Given the description of an element on the screen output the (x, y) to click on. 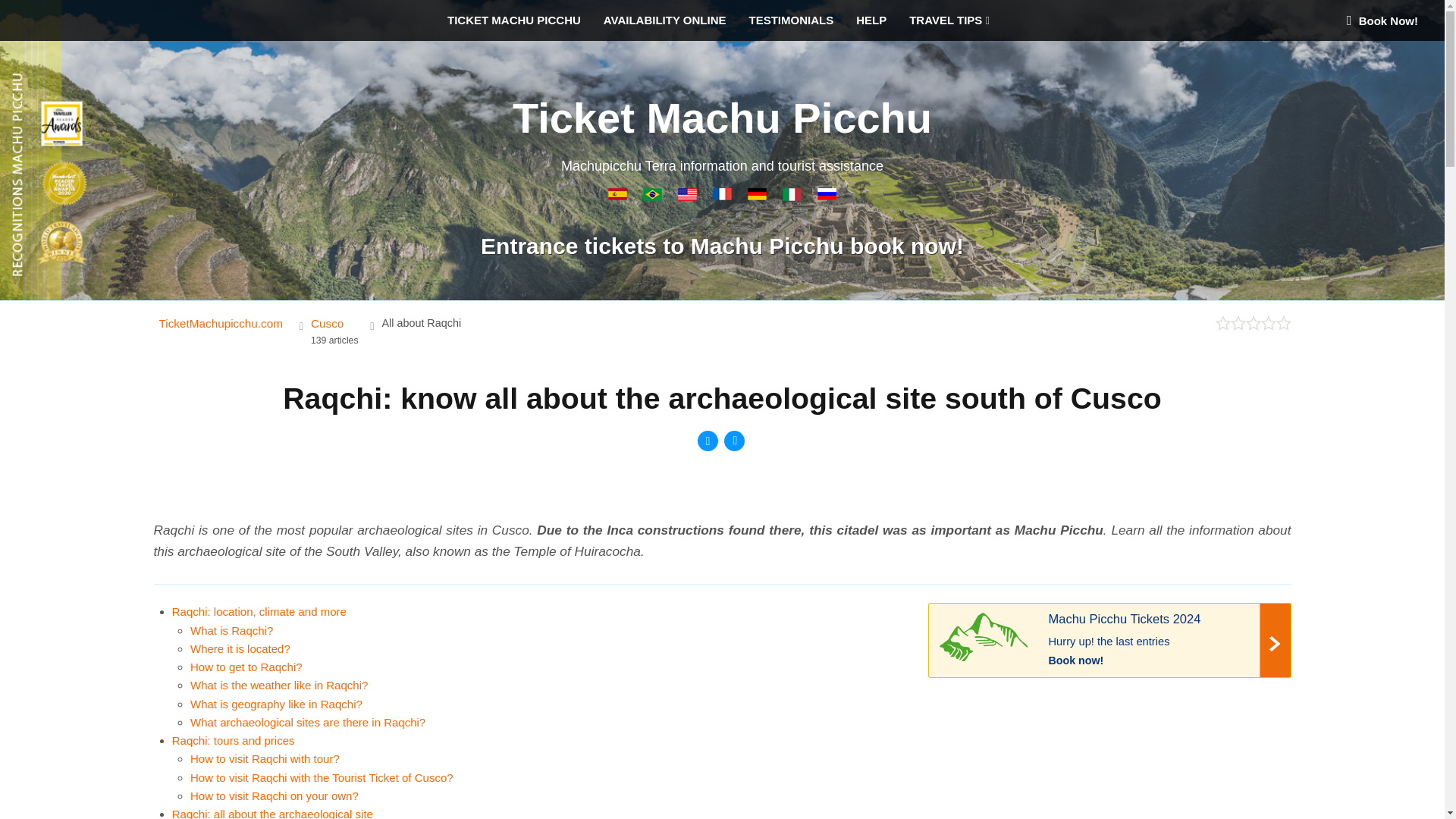
Book Now! (1382, 20)
TICKET MACHU PICCHU (513, 20)
Boleto Machu Picchu (619, 196)
Ticket Machu Picchu (689, 196)
What is the weather like in Raqchi? (279, 684)
TicketMachupicchu.com (223, 323)
Ticket Machu Picchu (721, 117)
Raqchi: location, climate and more (258, 611)
AVAILABILITY ONLINE (665, 20)
Biglietto Machu Picchu (794, 196)
TRAVEL TIPS (953, 20)
Tickets Machu Picchu (759, 196)
Where it is located? (239, 648)
What is Raqchi? (231, 630)
Ticket Booking Machu Picchu 2023 (1109, 643)
